Given the description of an element on the screen output the (x, y) to click on. 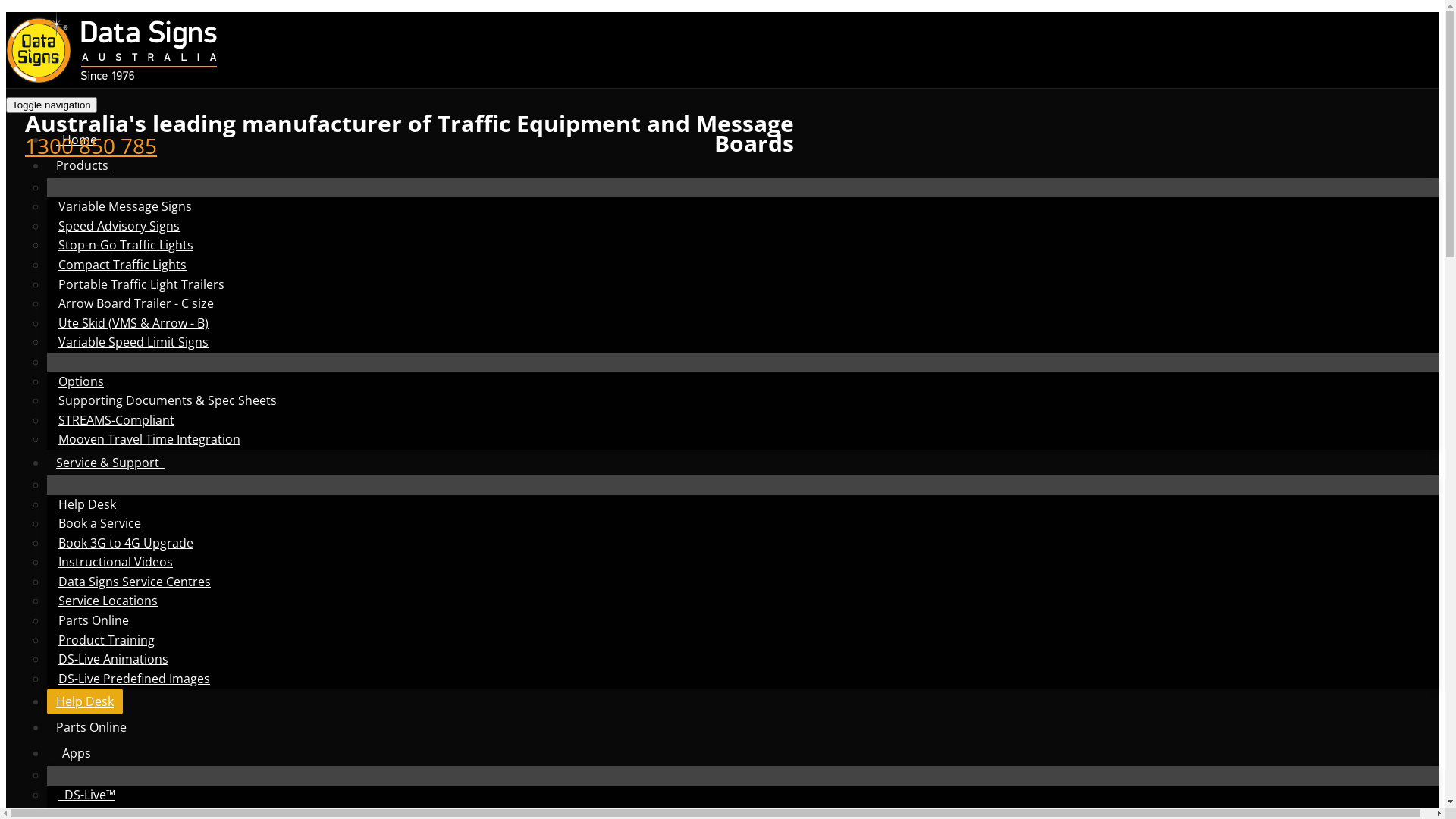
Products   Element type: text (85, 165)
Arrow Board Trailer - C size Element type: text (136, 302)
Options Element type: text (81, 381)
Stop-n-Go Traffic Lights Element type: text (125, 244)
Service & Support   Element type: text (110, 462)
  Apps   Element type: text (76, 752)
Ute Skid (VMS & Arrow - B) Element type: text (133, 322)
STREAMS-Compliant Element type: text (116, 419)
Variable Speed Limit Signs Element type: text (133, 341)
DS-Live Predefined Images Element type: text (134, 678)
  Home Element type: text (76, 139)
Help Desk Element type: text (87, 503)
Toggle navigation Element type: text (51, 104)
Supporting Documents & Spec Sheets Element type: text (167, 399)
Book 3G to 4G Upgrade Element type: text (125, 542)
Variable Message Signs Element type: hover (112, 83)
Data Signs Service Centres Element type: text (134, 581)
Product Training Element type: text (106, 639)
DS-Live Animations Element type: text (113, 658)
1300 850 785 Element type: text (90, 145)
Service Locations Element type: text (108, 600)
Variable Message Signs Element type: text (125, 205)
Mooven Travel Time Integration Element type: text (149, 438)
Portable Traffic Light Trailers Element type: text (141, 283)
Parts Online Element type: text (93, 619)
Help Desk Element type: text (84, 701)
Book a Service Element type: text (99, 522)
Parts Online Element type: text (91, 727)
Compact Traffic Lights Element type: text (122, 264)
Speed Advisory Signs Element type: text (119, 225)
Instructional Videos Element type: text (115, 561)
